Given the description of an element on the screen output the (x, y) to click on. 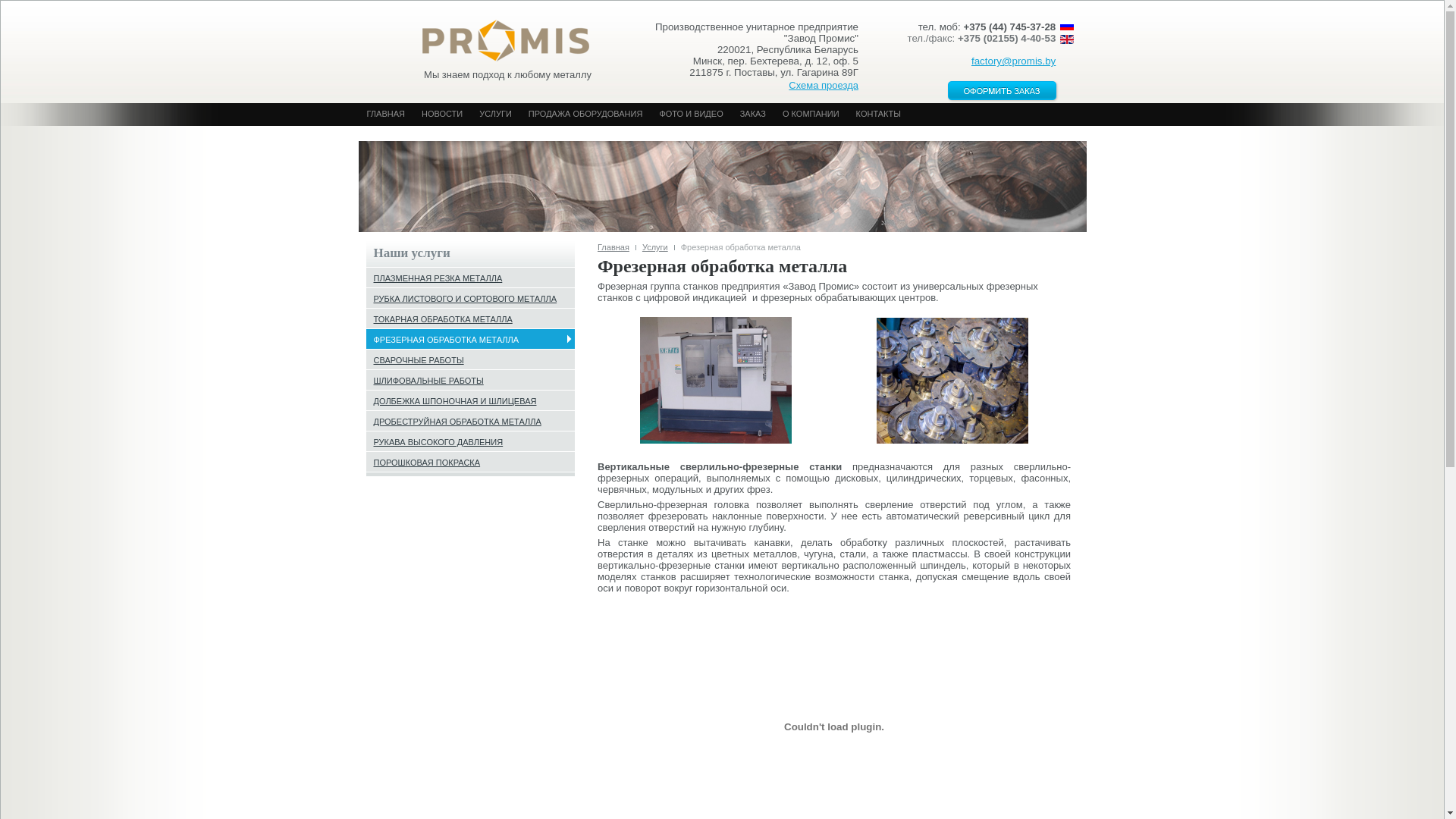
English (UK) Element type: hover (1066, 38)
                       Element type: text (498, 35)
factory@promis.by Element type: text (1013, 60)
